Given the description of an element on the screen output the (x, y) to click on. 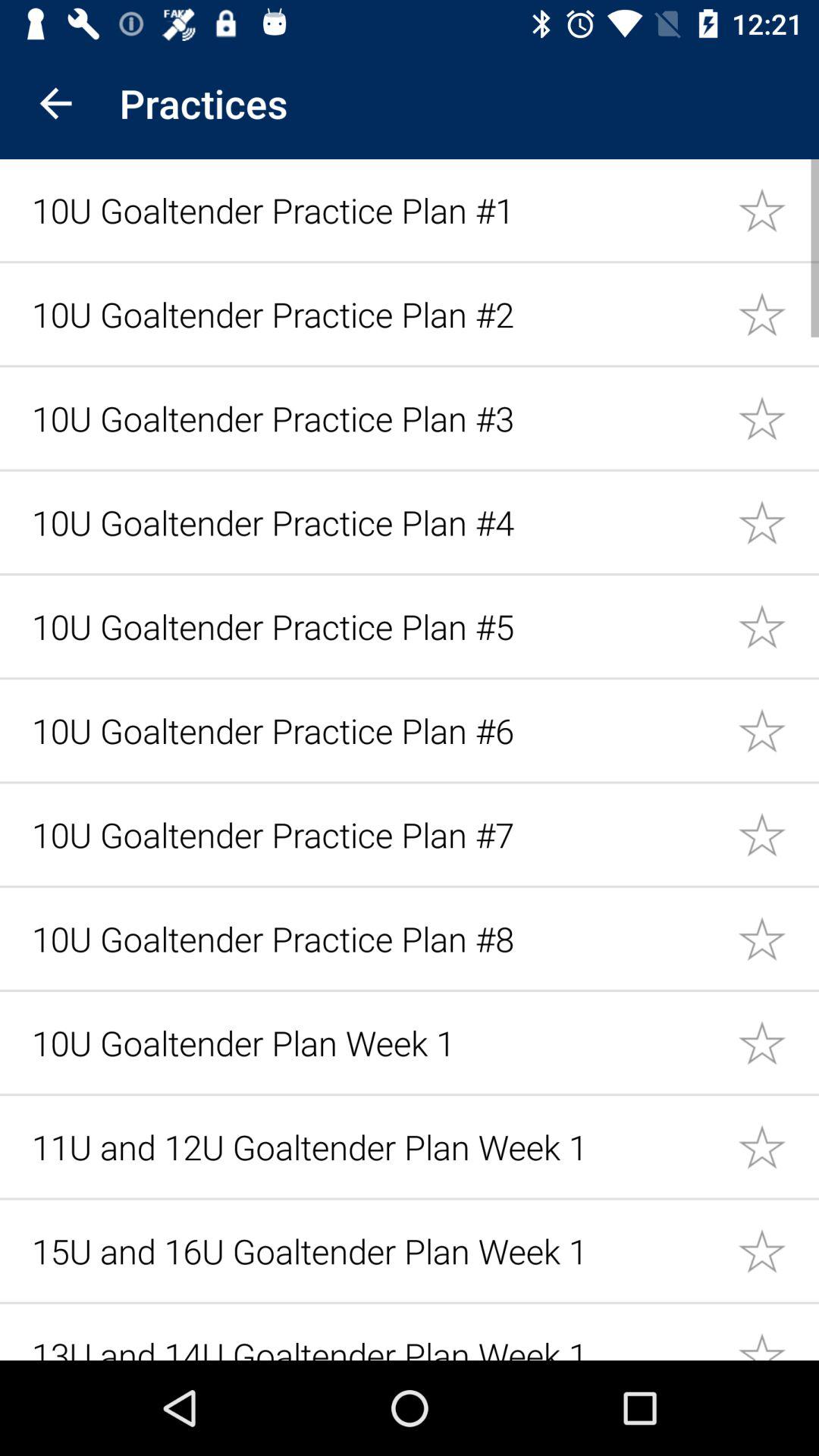
favorite this item (778, 1042)
